Given the description of an element on the screen output the (x, y) to click on. 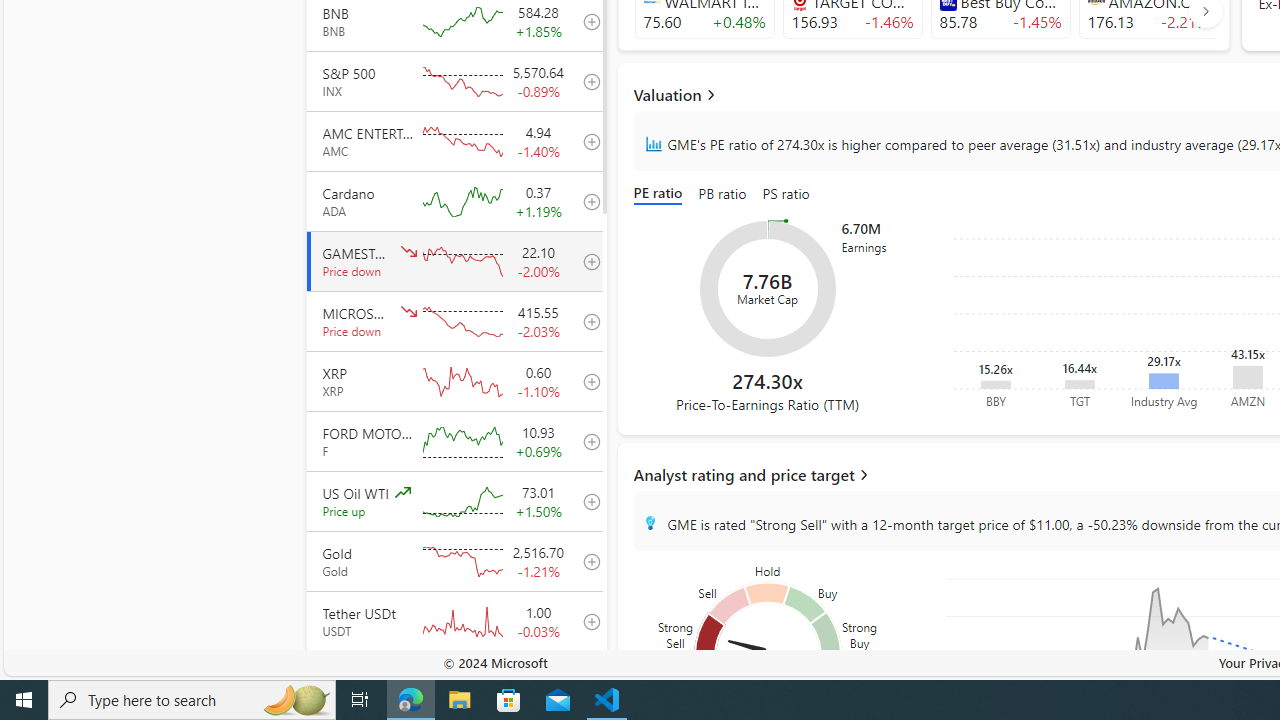
AutomationID: finance_carousel_navi_arrow (1205, 10)
add to your watchlist (586, 681)
PS ratio (785, 194)
PB ratio (722, 194)
PE ratio (662, 194)
